Given the description of an element on the screen output the (x, y) to click on. 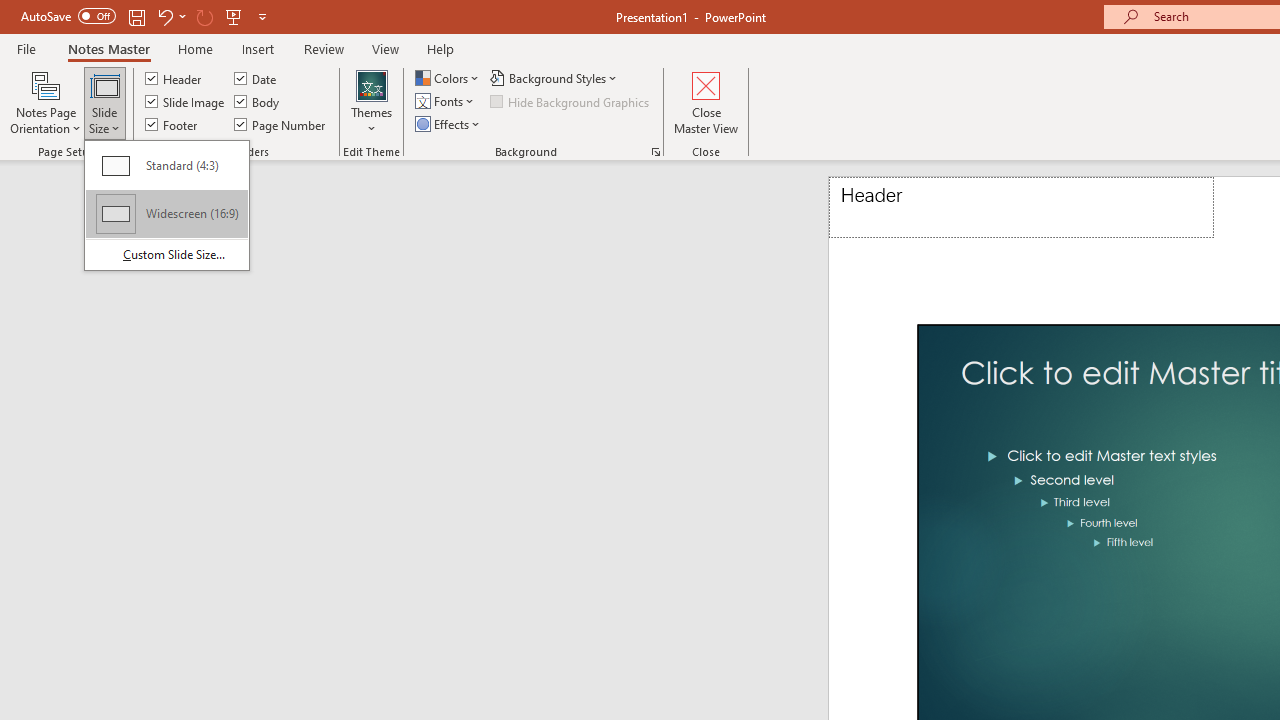
Notes Master (108, 48)
Colors (449, 78)
Footer (172, 124)
Header (1021, 207)
Slide Size (166, 204)
